Given the description of an element on the screen output the (x, y) to click on. 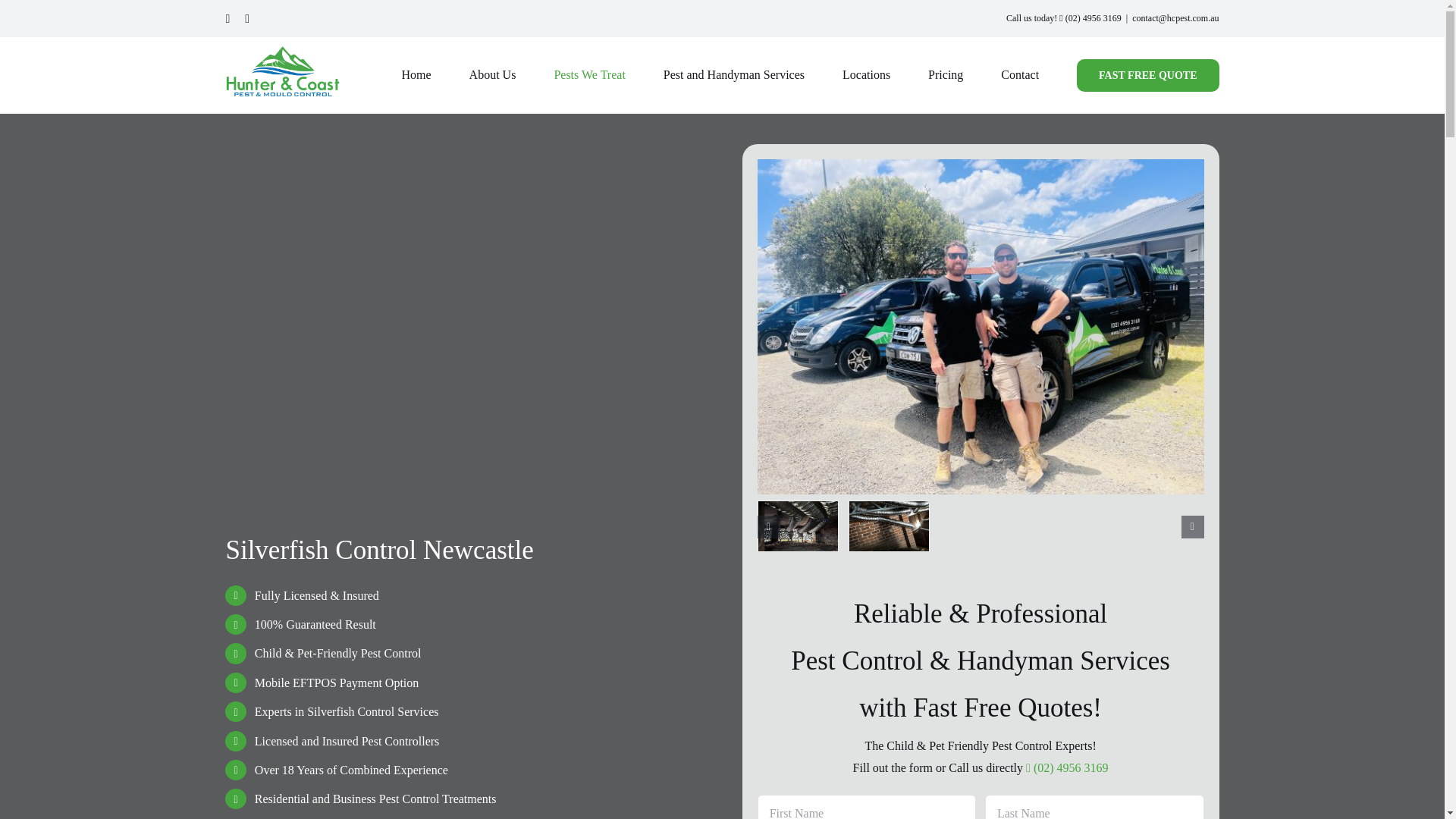
Pests We Treat (588, 74)
